Given the description of an element on the screen output the (x, y) to click on. 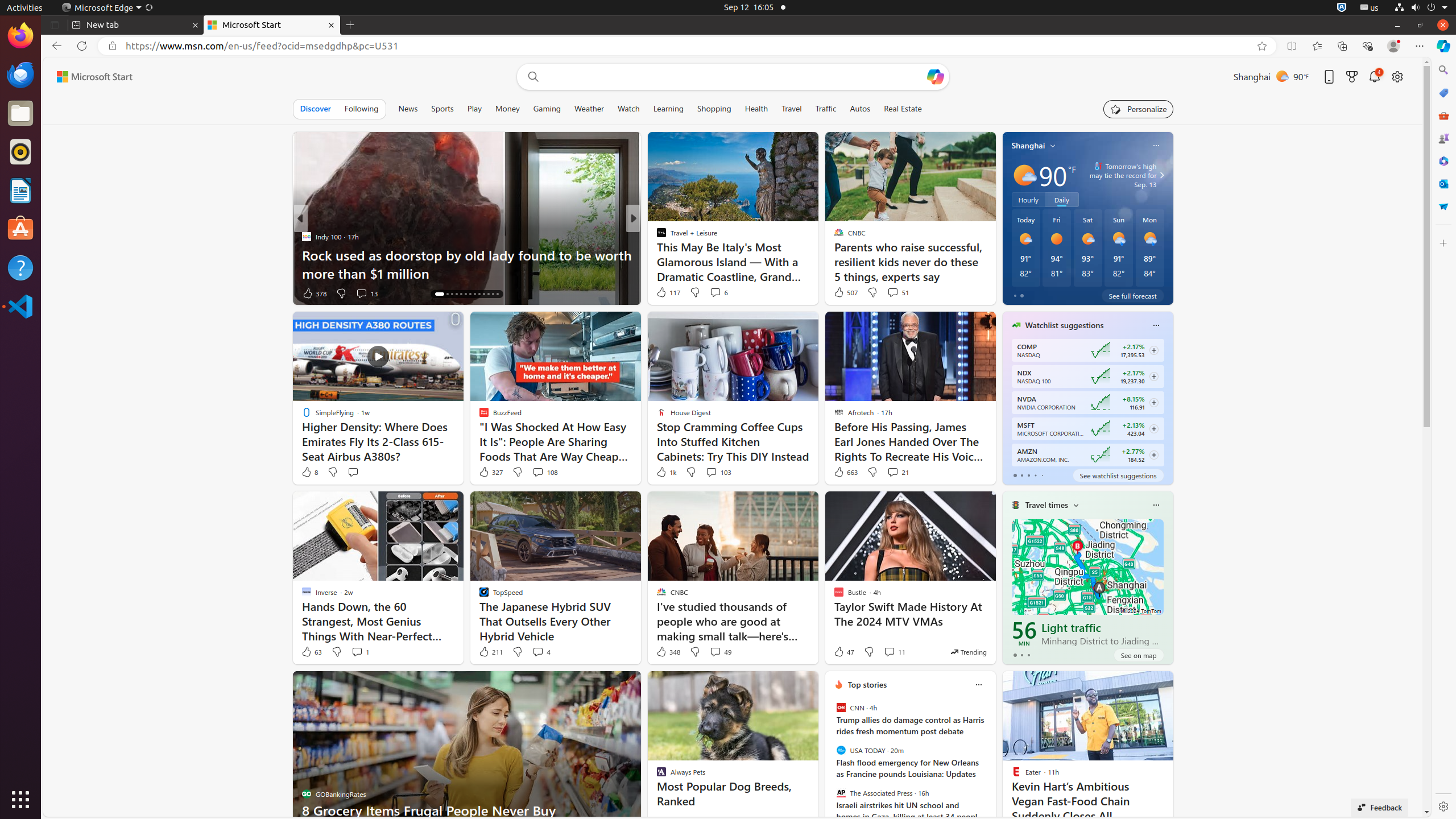
56 MIN Element type: link (1024, 633)
COMP NASDAQ ‎+2.17%‎ 17,395.53 Element type: link (1087, 349)
8 Like Element type: toggle-button (308, 472)
My location Element type: push-button (1053, 145)
LibreOffice Writer Element type: push-button (20, 190)
